Given the description of an element on the screen output the (x, y) to click on. 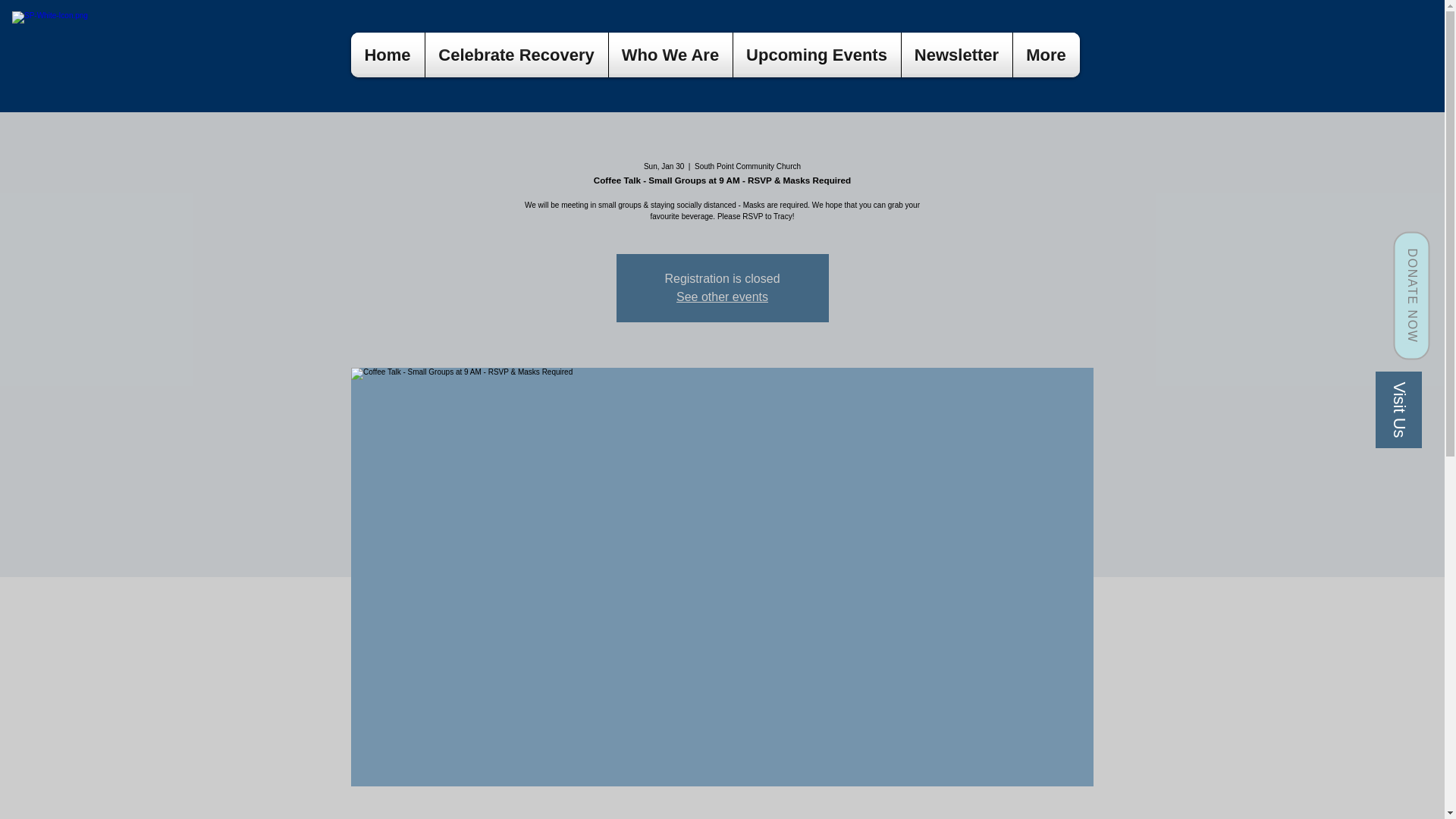
Home (386, 54)
See other events (722, 296)
Newsletter (956, 54)
Celebrate Recovery (516, 54)
Who We Are (670, 54)
Upcoming Events (815, 54)
